Given the description of an element on the screen output the (x, y) to click on. 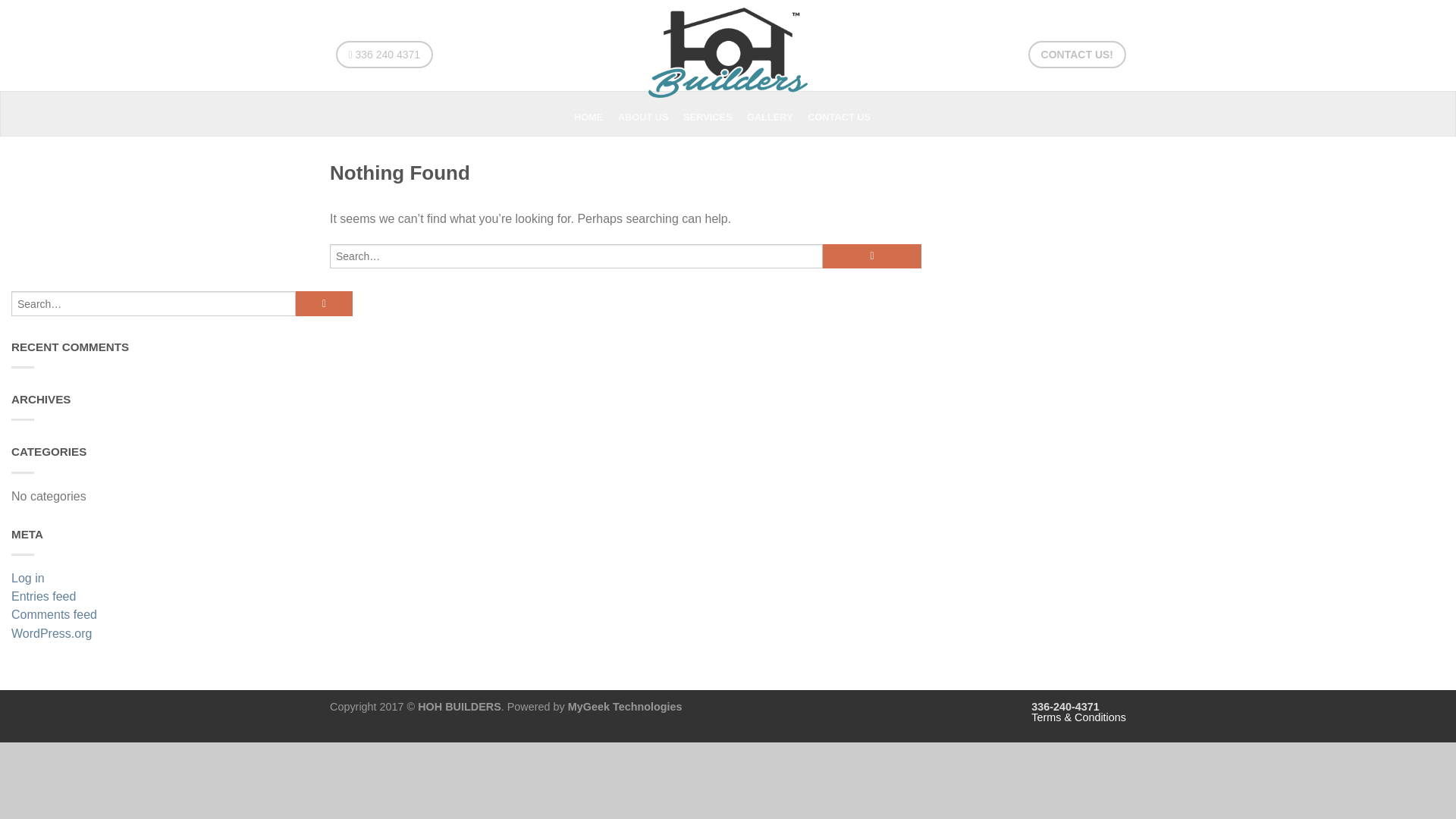
WordPress.org (181, 635)
ABOUT US (648, 117)
GALLERY (775, 117)
SERVICES (712, 117)
HOH Builders - HOH-JR INC (727, 48)
CONTACT US (845, 117)
CONTACT US! (1076, 53)
Comments feed (181, 616)
HOME (593, 117)
336 240 4371 (383, 53)
Entries feed (181, 597)
Log in (181, 579)
